Given the description of an element on the screen output the (x, y) to click on. 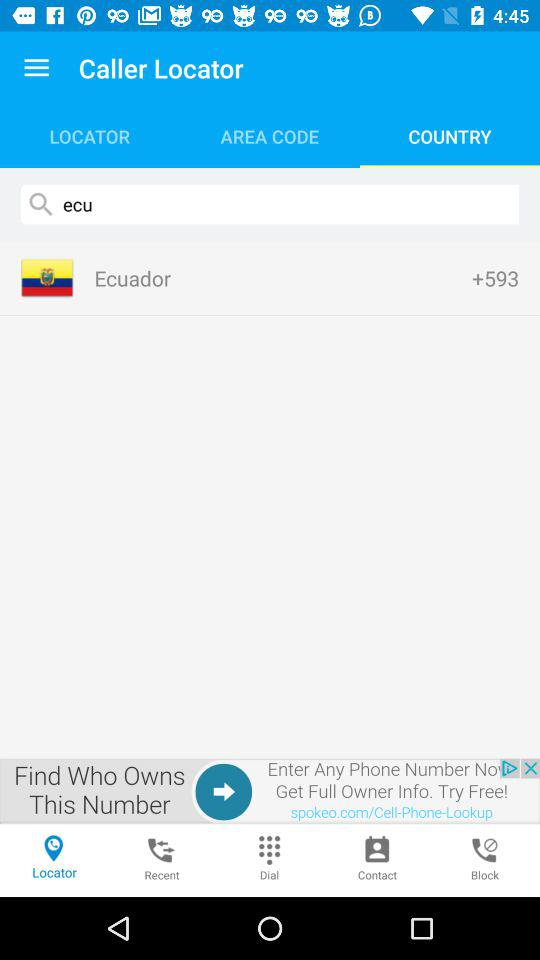
google advertisements (270, 791)
